Given the description of an element on the screen output the (x, y) to click on. 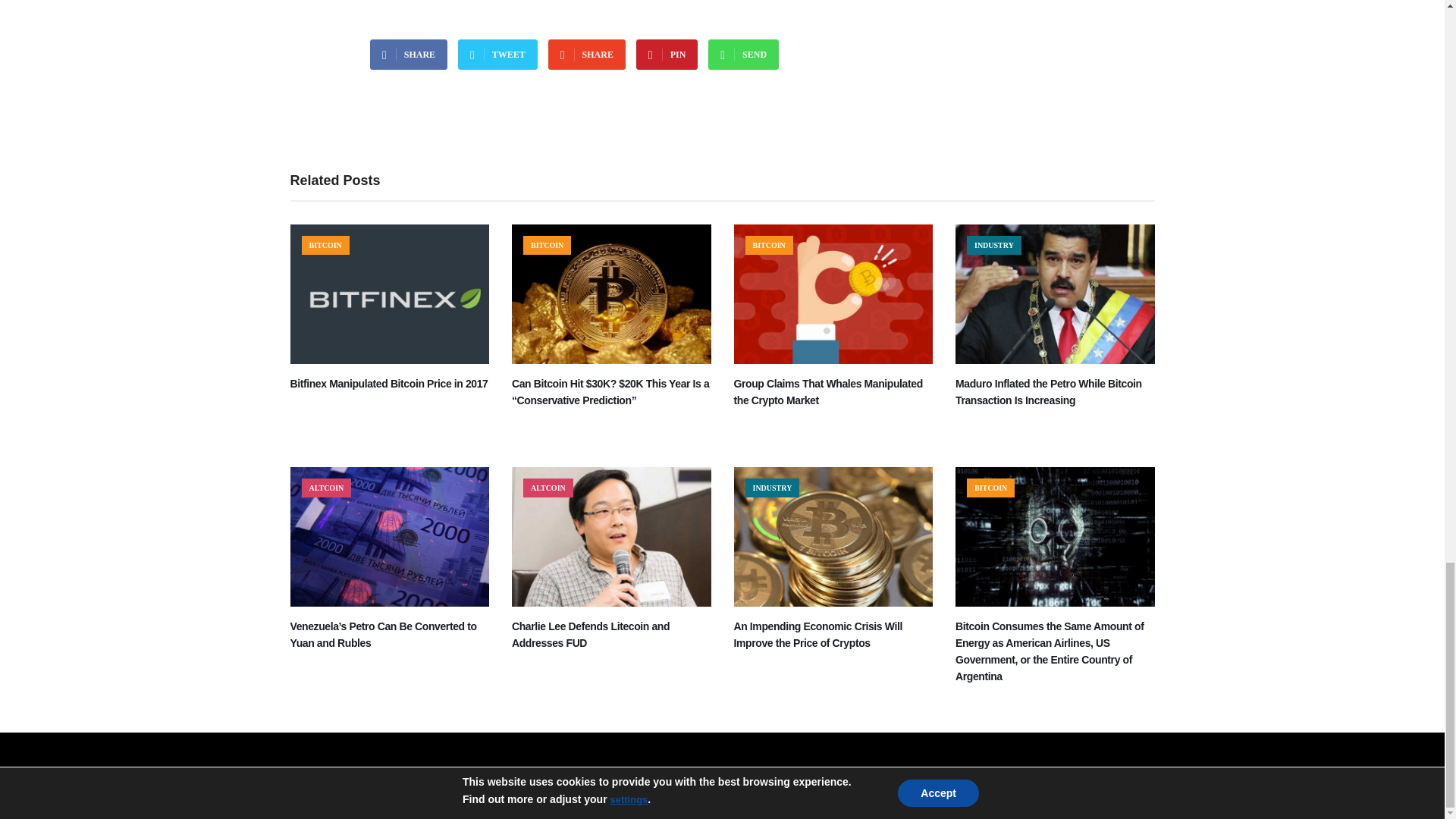
Bitfinex Manipulated Bitcoin Price in 2017 (389, 359)
Bitfinex Manipulated Bitcoin Price in 2017 (388, 383)
